Given the description of an element on the screen output the (x, y) to click on. 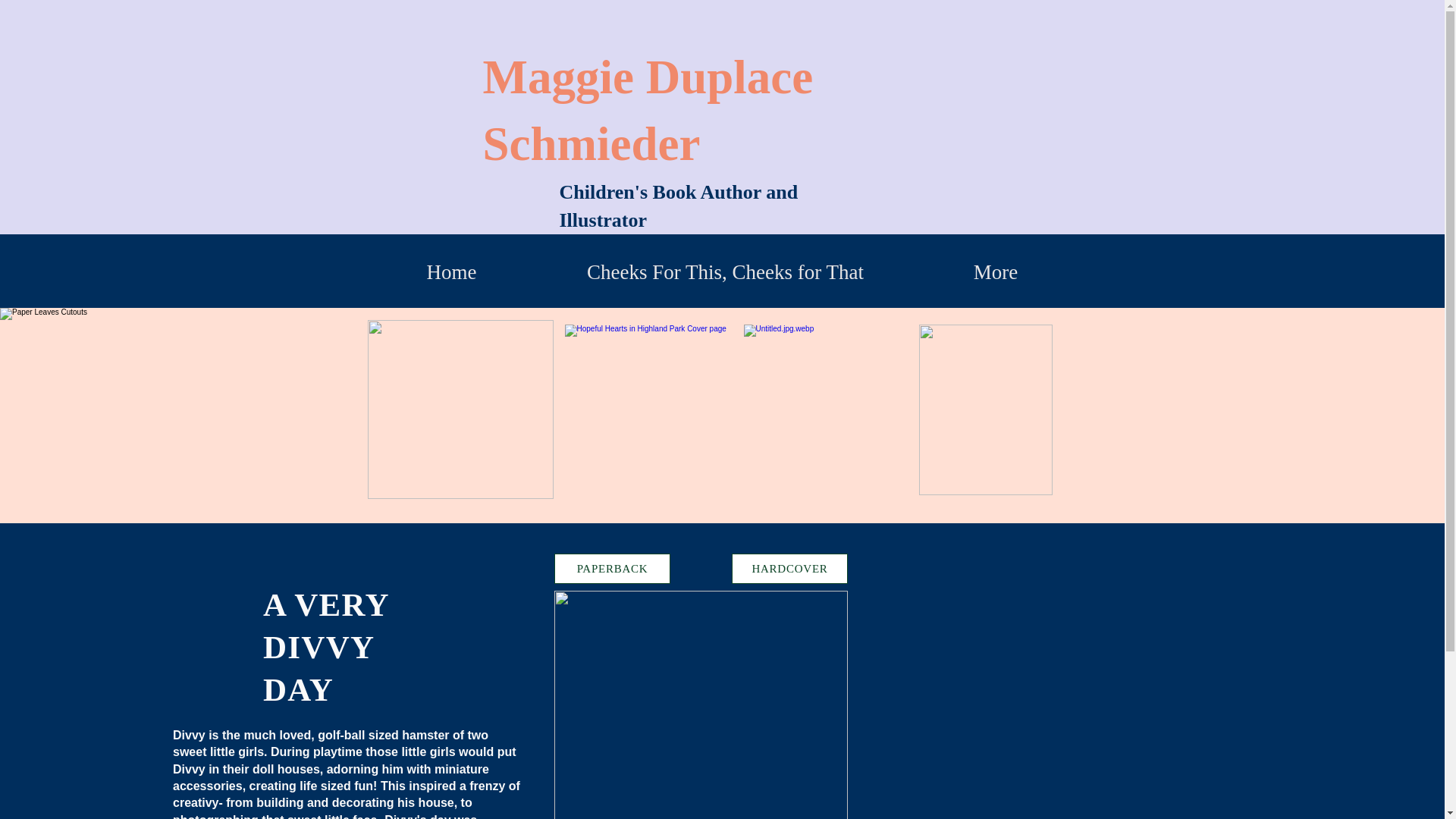
HARDCOVER (789, 568)
PAPERBACK (611, 568)
Untitled.jpg.webp (700, 704)
Home (451, 271)
Cheeks For This, Cheeks for That (725, 271)
